Given the description of an element on the screen output the (x, y) to click on. 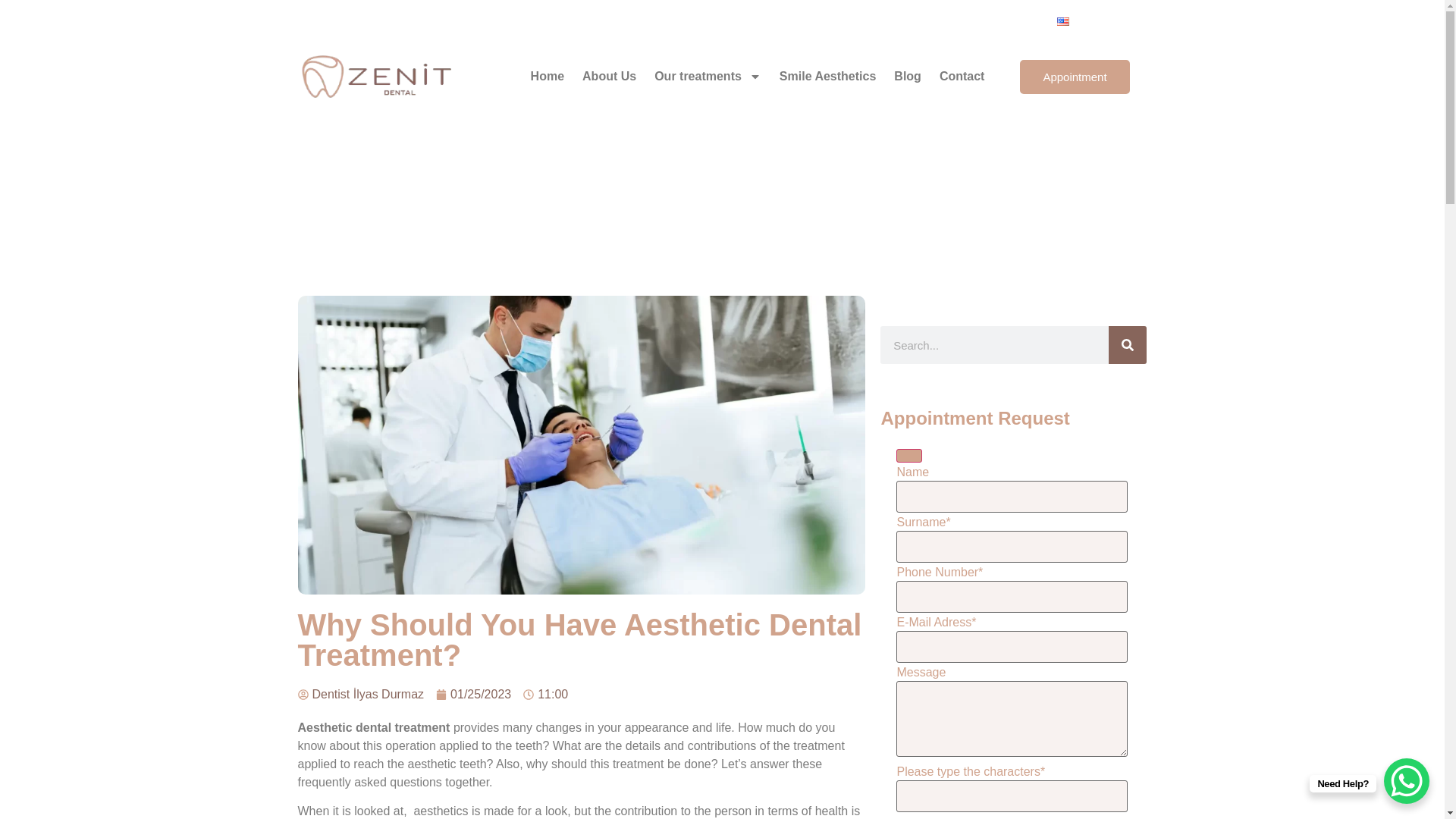
Contact (962, 76)
Smile Aesthetics (827, 76)
Blog (907, 76)
About Us (609, 76)
Our treatments (707, 76)
Home (547, 76)
English (1096, 21)
